Given the description of an element on the screen output the (x, y) to click on. 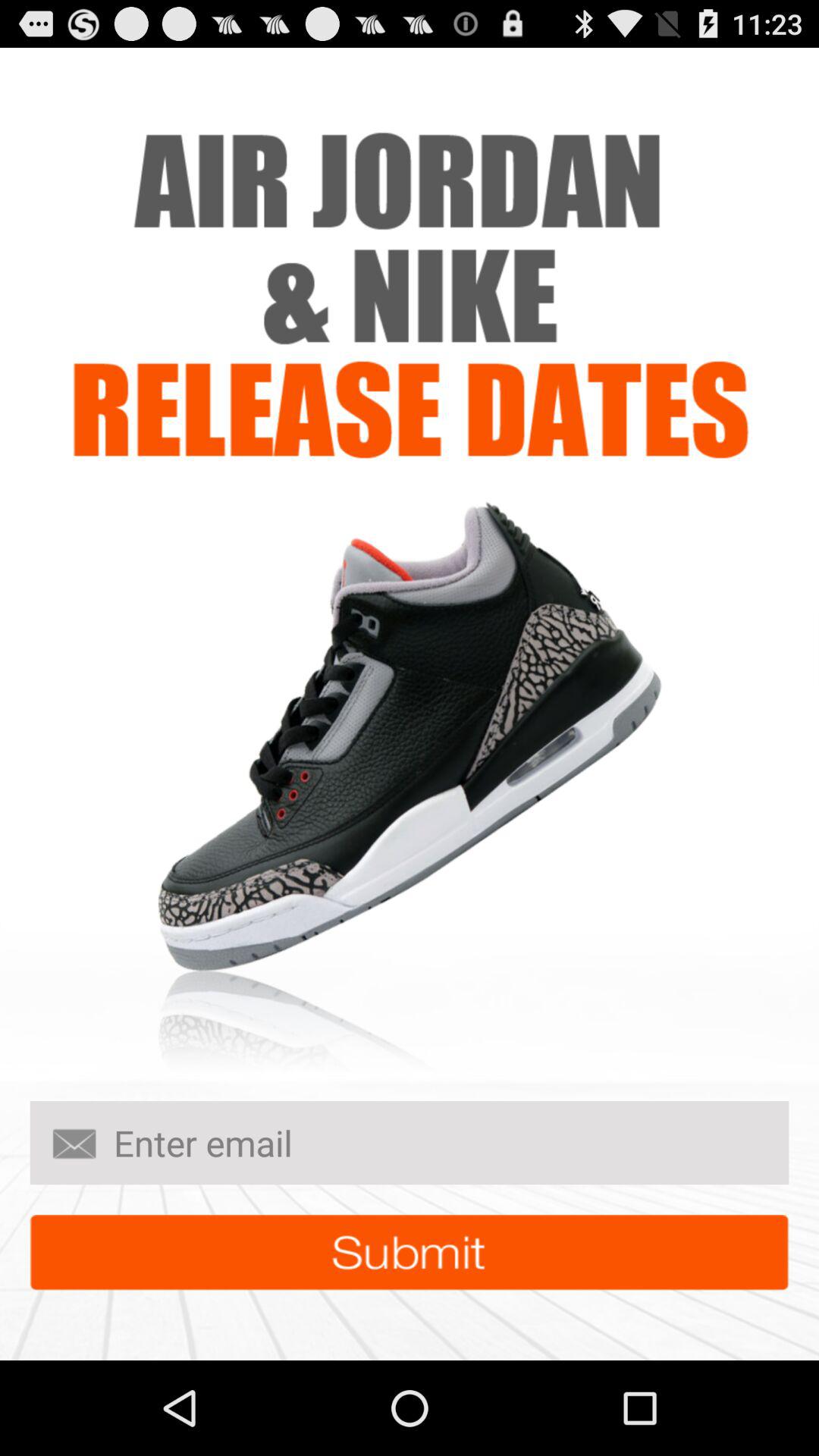
enter email page (409, 1142)
